Given the description of an element on the screen output the (x, y) to click on. 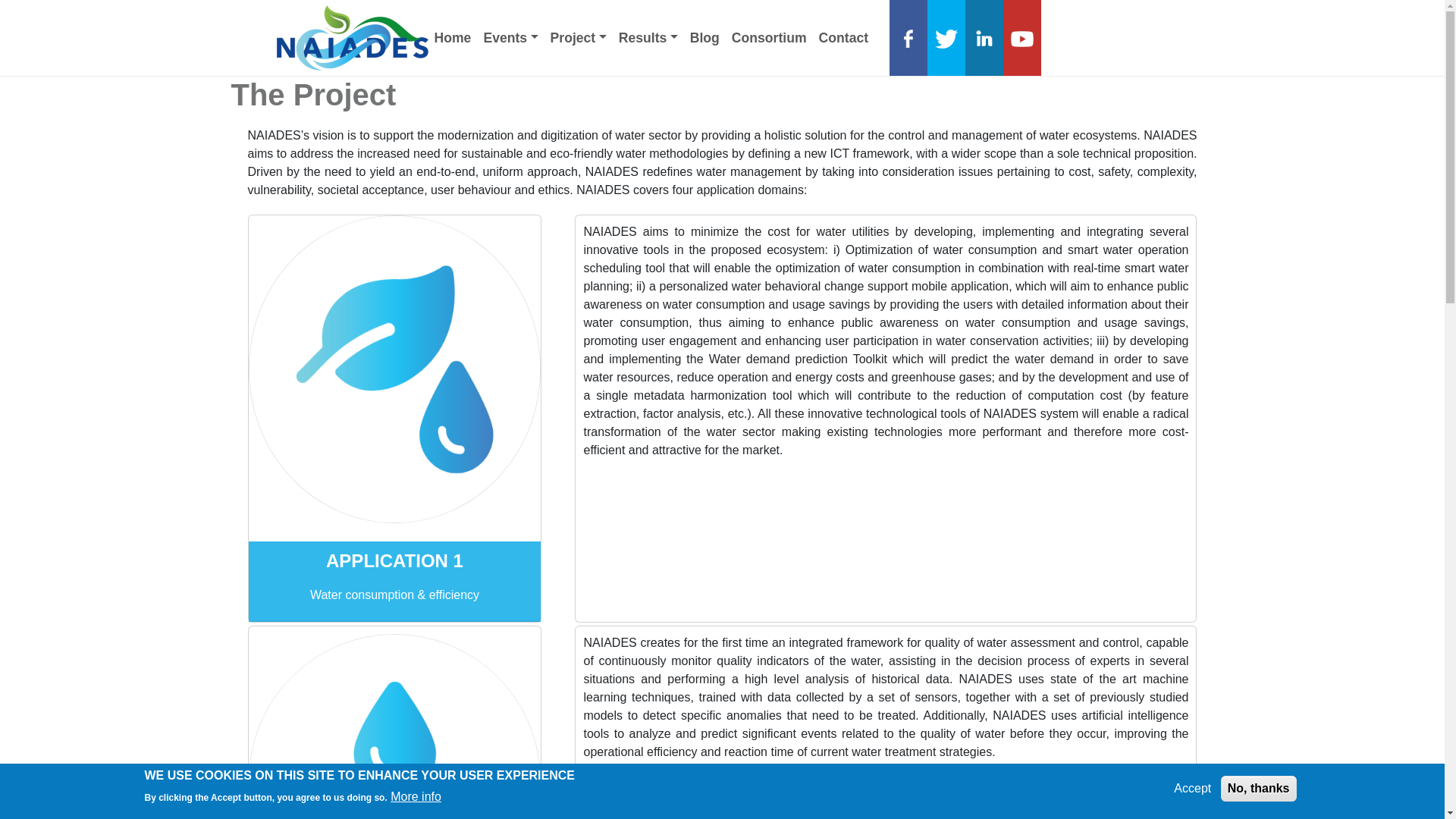
Home (452, 38)
More info (415, 796)
Events (510, 38)
Contact (843, 38)
Accept (1192, 788)
Project (578, 38)
No, thanks (1259, 788)
Blog (704, 38)
Results (648, 38)
Consortium (768, 38)
